Given the description of an element on the screen output the (x, y) to click on. 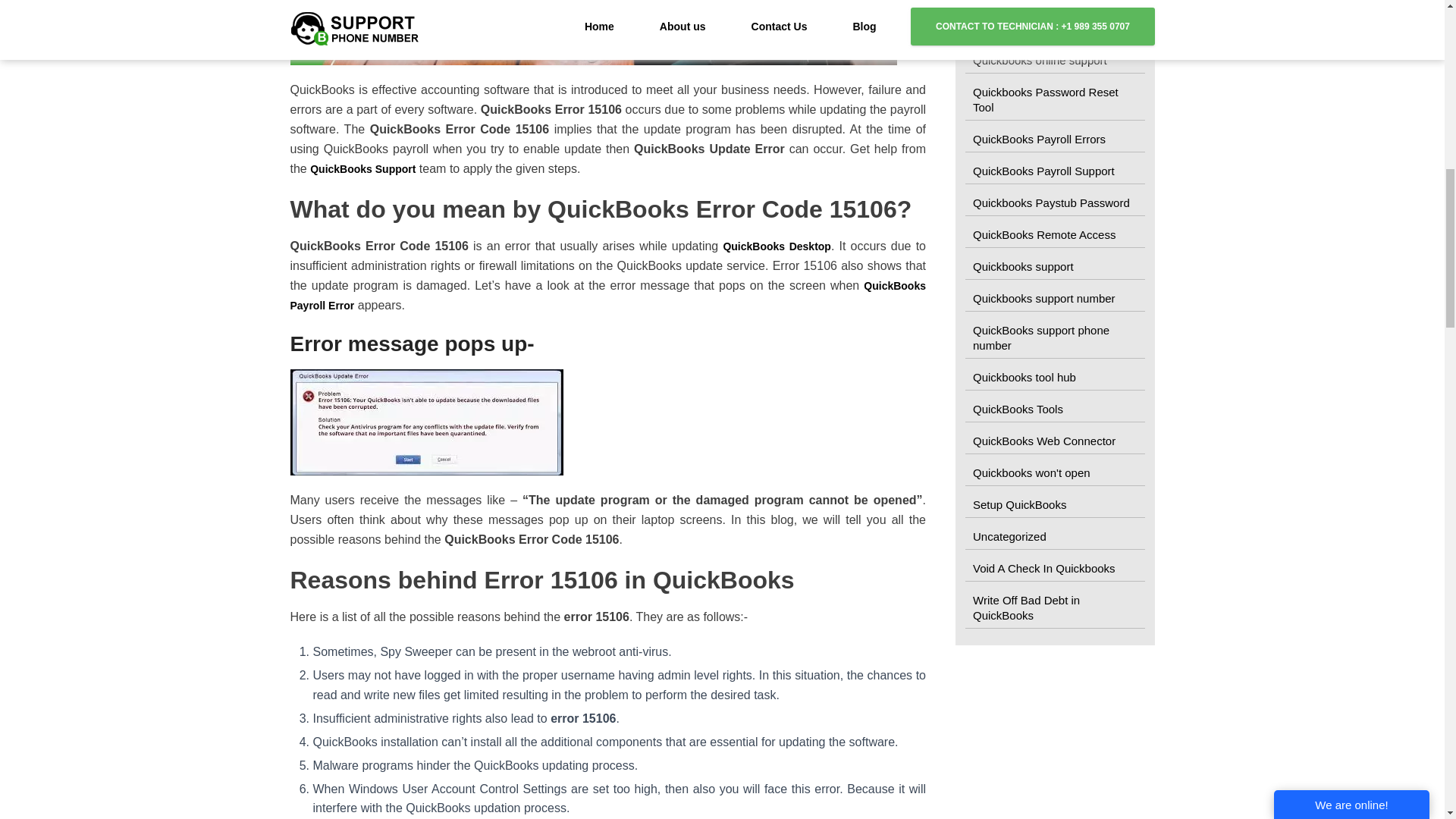
QuickBooks Payroll Error (607, 296)
QuickBooks Support (362, 168)
QuickBooks Desktop (776, 246)
